Given the description of an element on the screen output the (x, y) to click on. 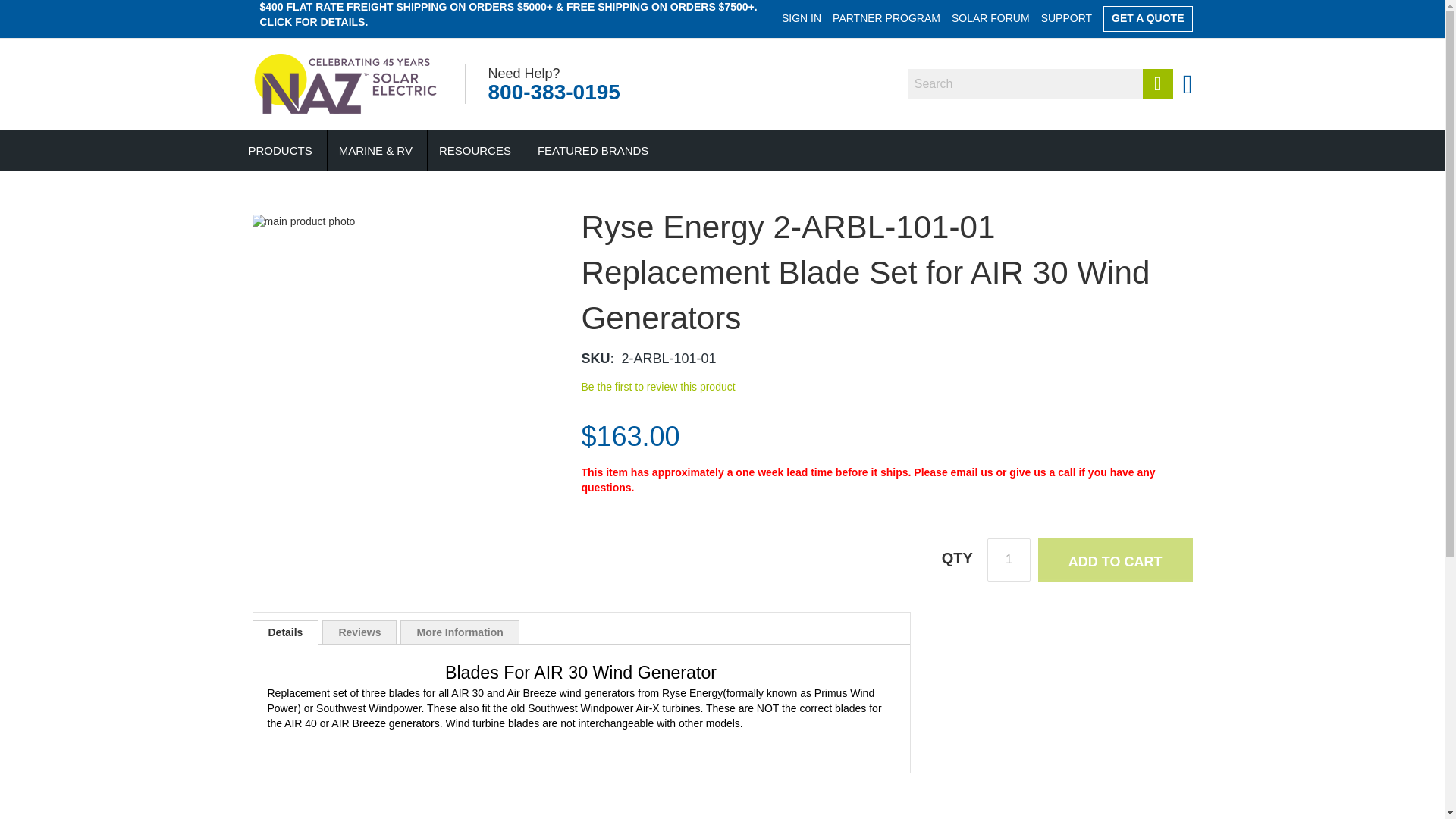
PRODUCTS (280, 150)
800-383-0195 (553, 92)
Add to Cart (1115, 559)
PARTNER PROGRAM (886, 18)
SUPPORT (1066, 18)
1 (1008, 559)
SOLAR FORUM (990, 18)
SIGN IN (801, 18)
Search (1157, 83)
GET A QUOTE (1147, 18)
SEARCH (1157, 83)
Qty (1008, 559)
